Given the description of an element on the screen output the (x, y) to click on. 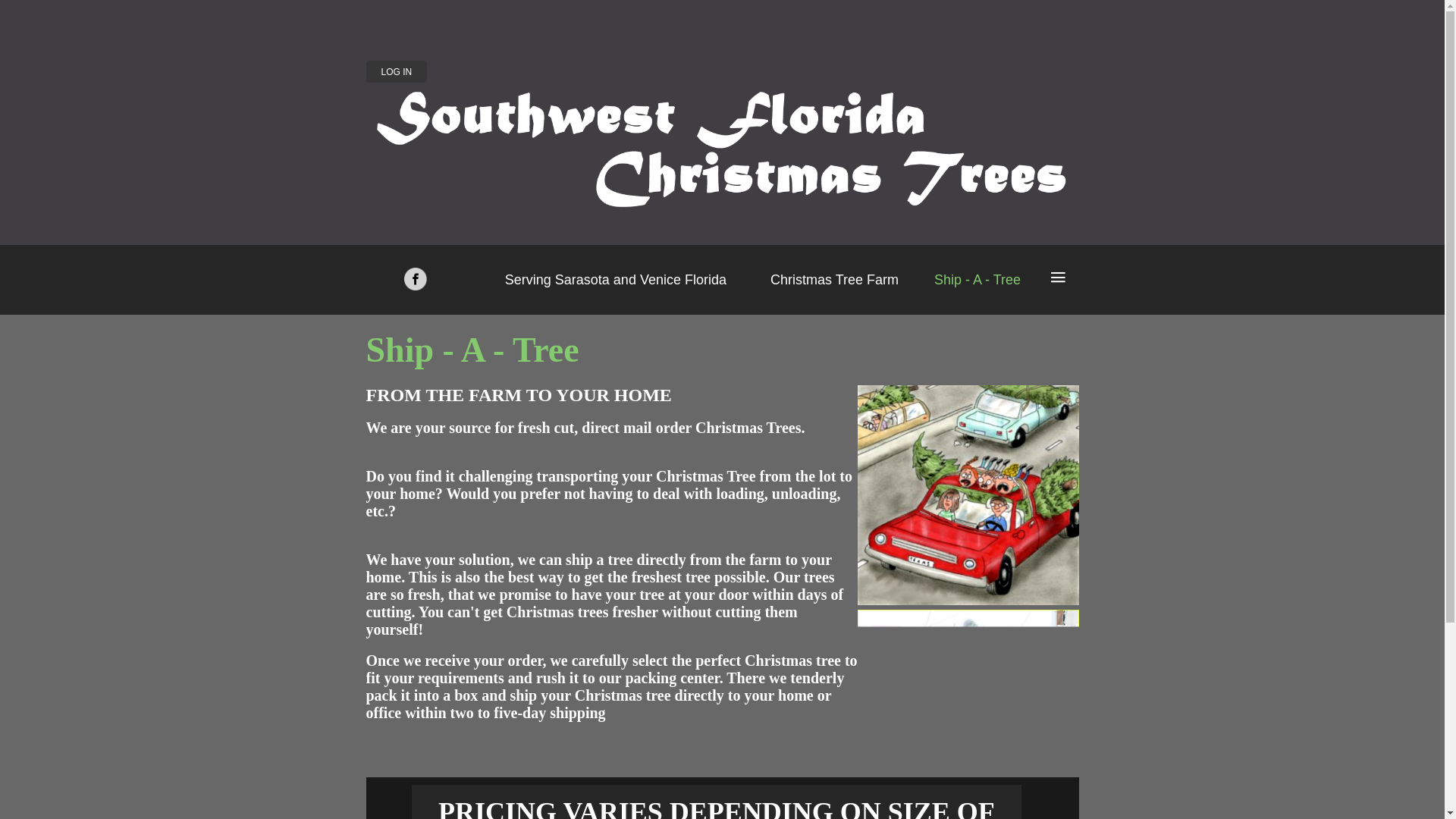
Facebook (414, 278)
LOG IN (395, 71)
Christmas Tree Farm (834, 279)
Christmas Tree Farm (834, 279)
Ship - A - Tree (976, 279)
Ship - A - Tree (976, 279)
Serving Sarasota and Venice Florida (615, 279)
Serving Sarasota and Venice Florida (615, 279)
